Given the description of an element on the screen output the (x, y) to click on. 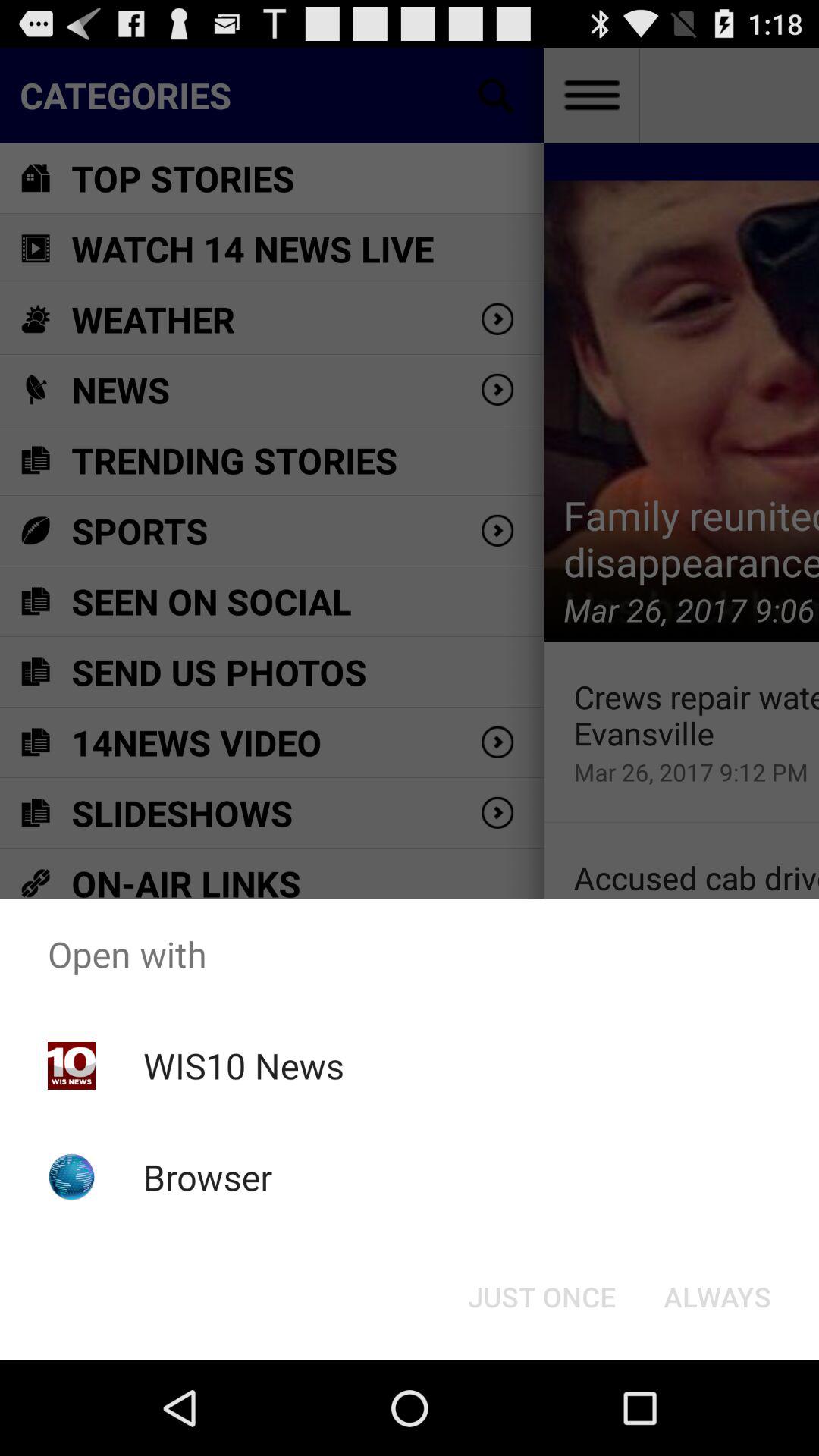
open button to the left of always item (541, 1296)
